Given the description of an element on the screen output the (x, y) to click on. 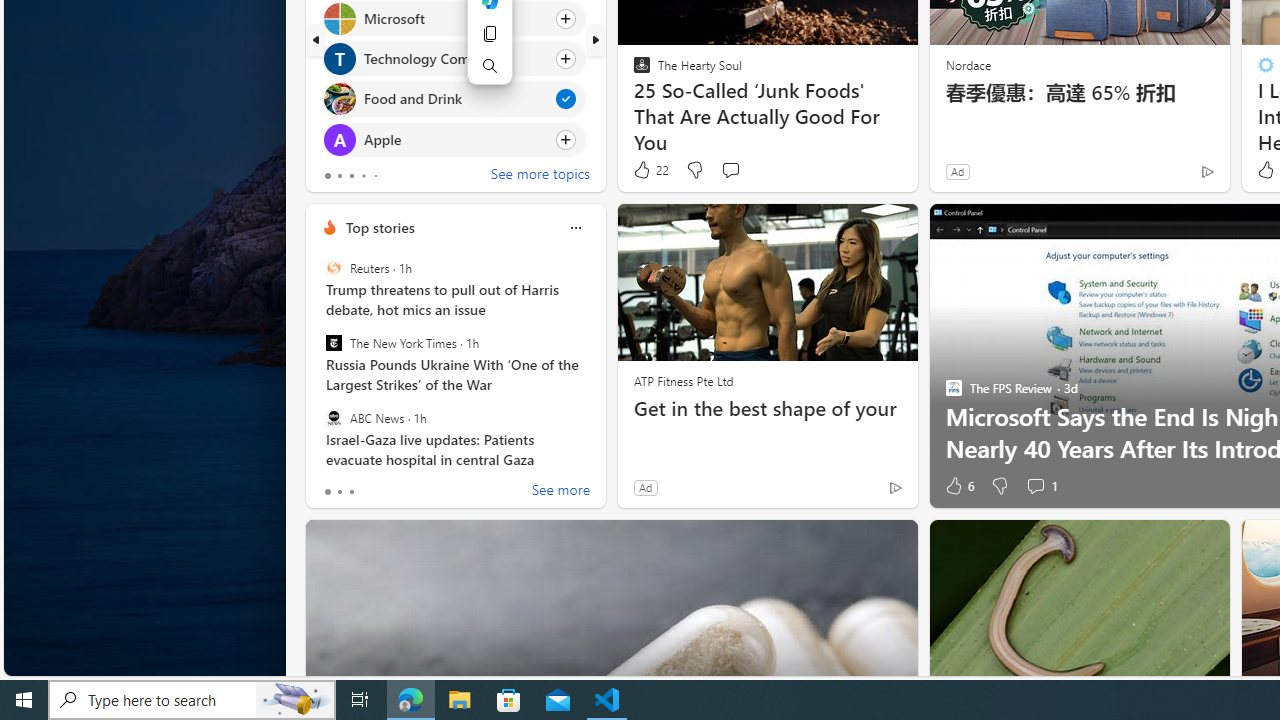
next (595, 39)
tab-1 (338, 491)
Click to follow topic Technology Companies (453, 59)
Reuters (333, 268)
Food and Drink (338, 98)
Click to follow topic Microsoft (453, 18)
View comments 1 Comment (1035, 485)
Microsoft (338, 18)
Copy (490, 33)
ATP Fitness Pte Ltd (683, 380)
6 Like (957, 485)
